Given the description of an element on the screen output the (x, y) to click on. 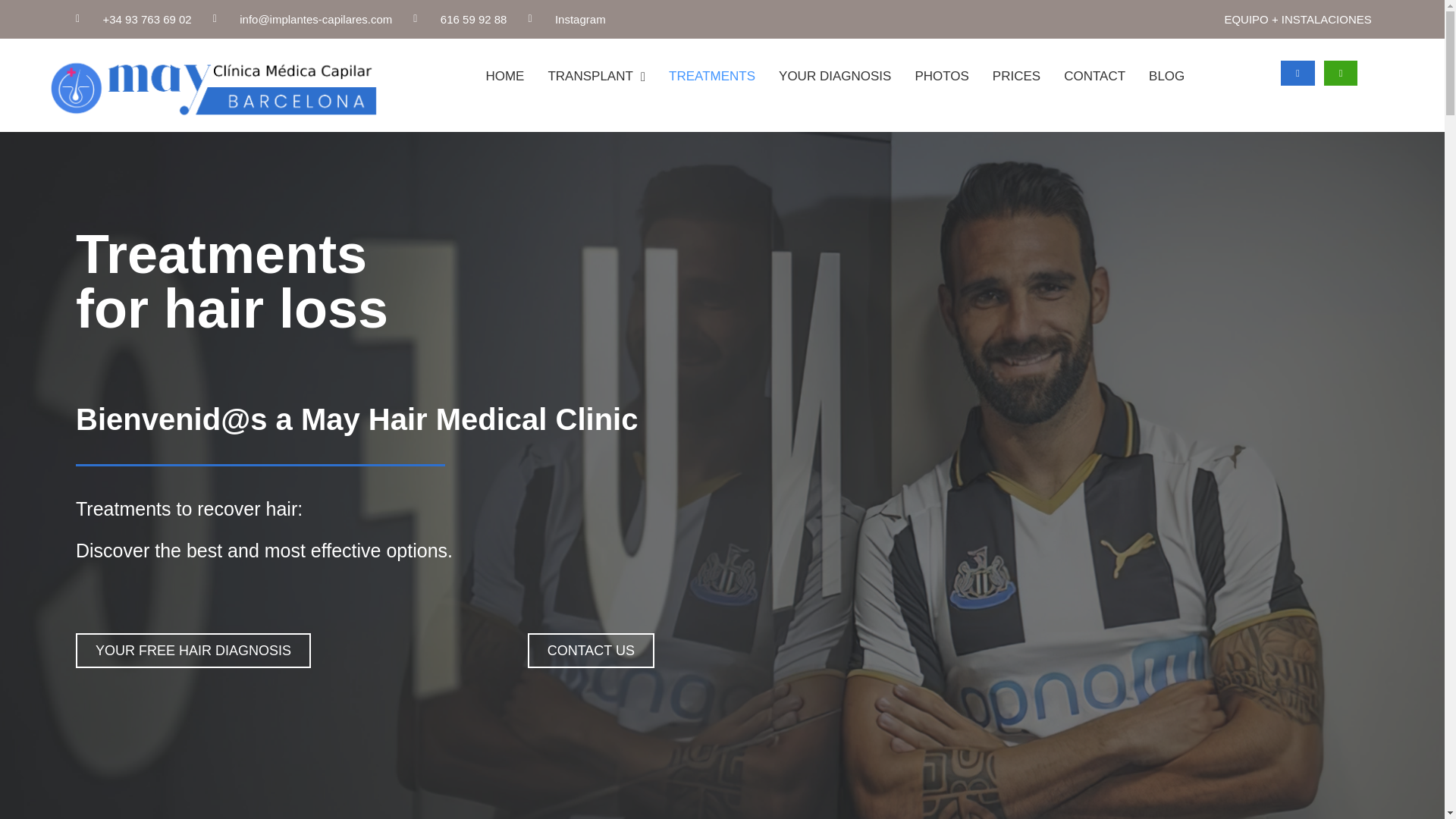
PRICES (1016, 76)
YOUR DIAGNOSIS (834, 76)
HOME (504, 76)
BLOG (1166, 76)
Instagram (566, 19)
616 59 92 88 (459, 19)
TRANSPLANT (595, 76)
PHOTOS (940, 76)
CONTACT (1094, 76)
TREATMENTS (711, 76)
